Given the description of an element on the screen output the (x, y) to click on. 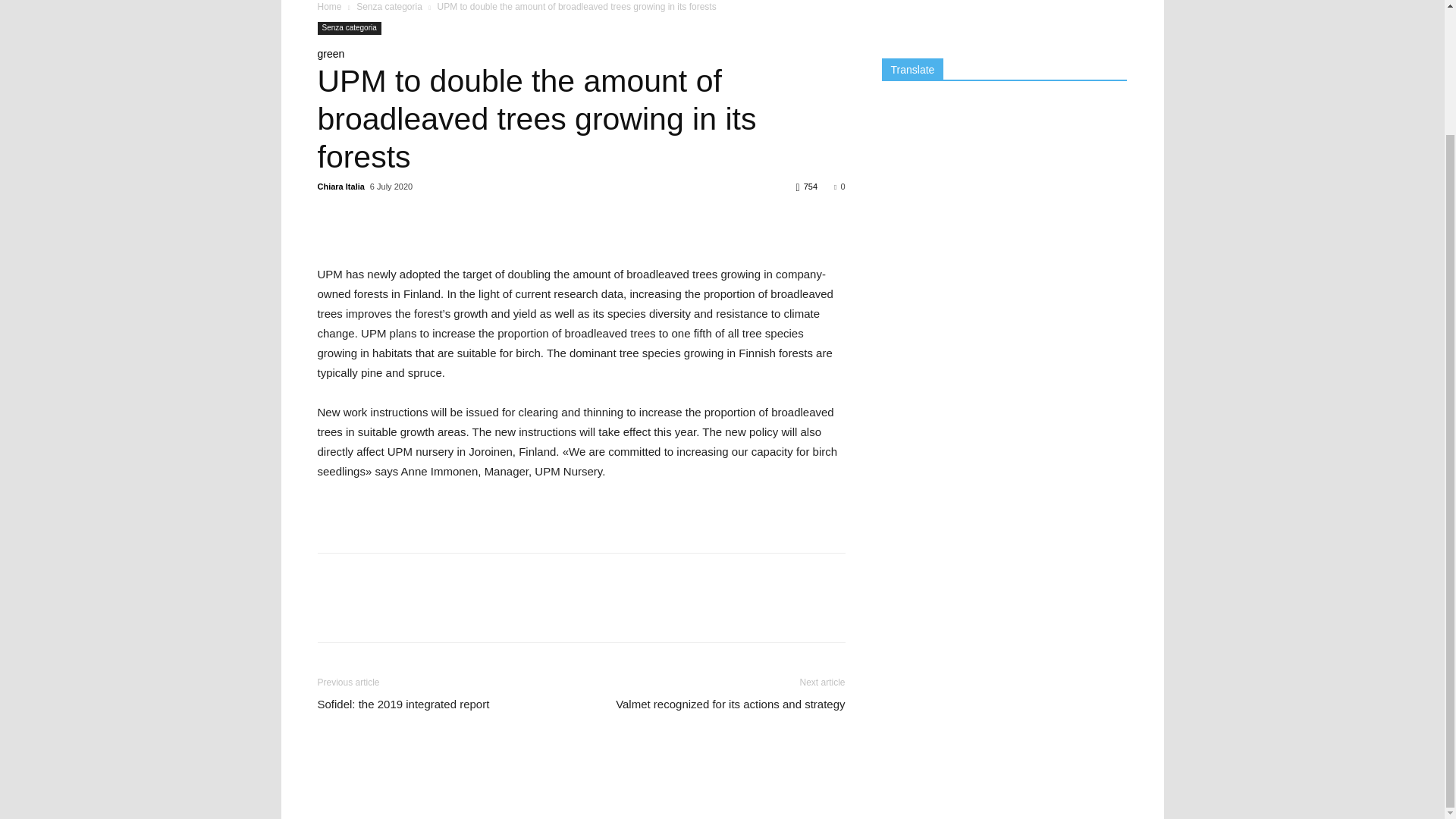
View all posts in Senza categoria (389, 6)
Posts by Chiara Italia (340, 185)
